Given the description of an element on the screen output the (x, y) to click on. 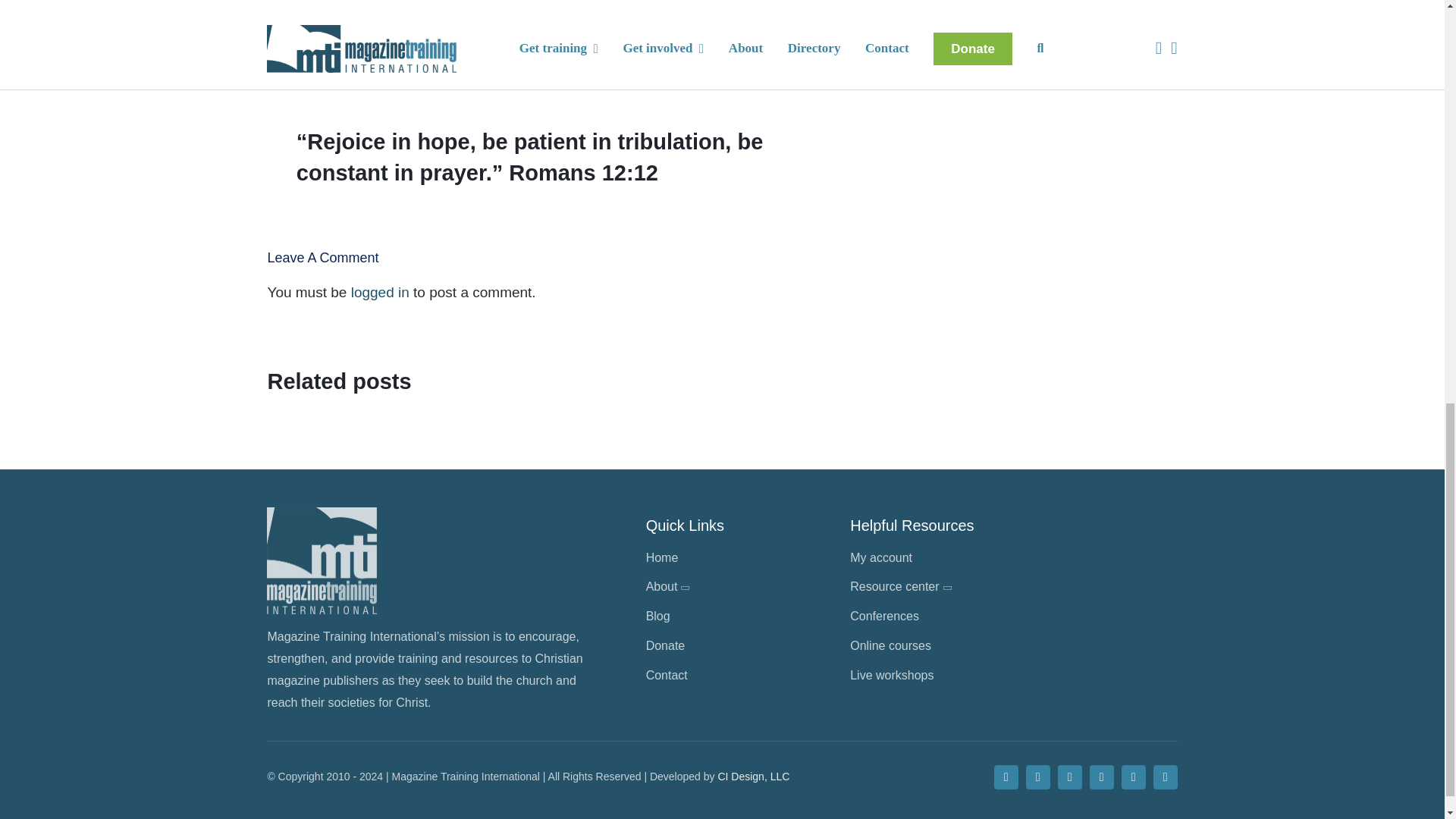
Rss (1165, 776)
LinkedIn (1133, 776)
Facebook (1005, 776)
X (1037, 776)
logged in (379, 292)
YouTube (1101, 776)
Pinterest (1069, 776)
